Given the description of an element on the screen output the (x, y) to click on. 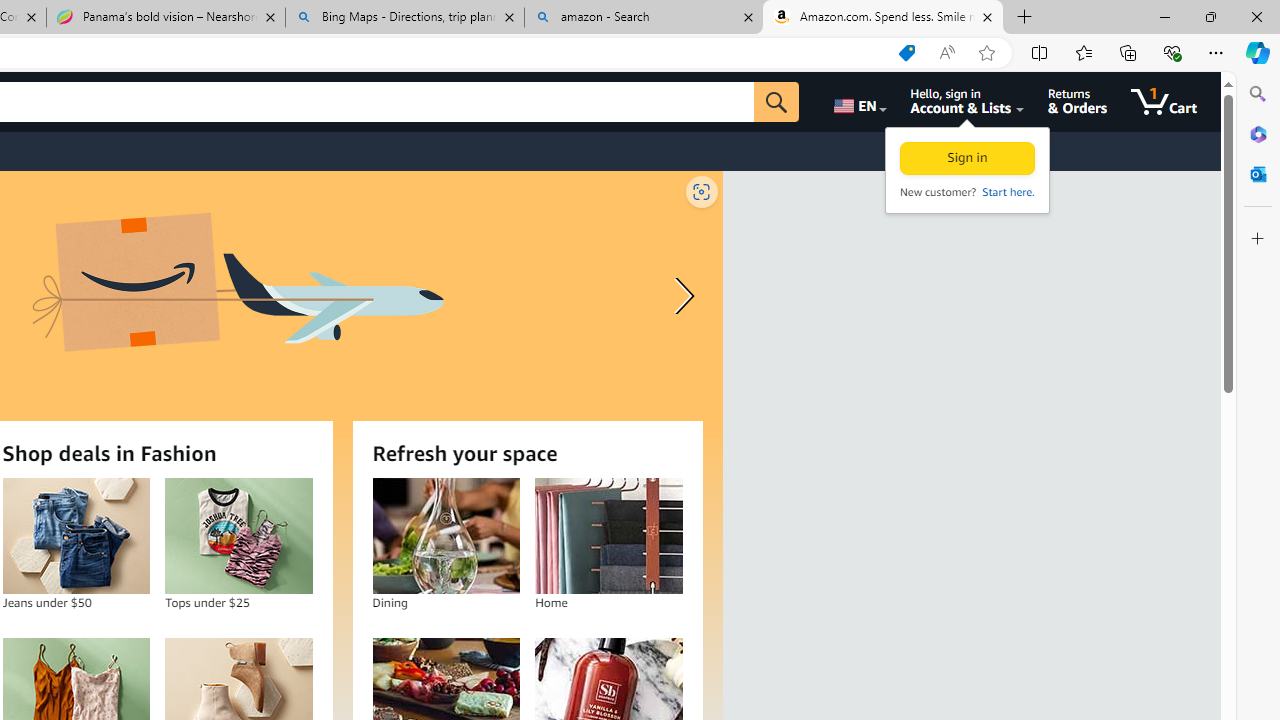
Tops under $25 (238, 536)
Dining (445, 536)
Jeans under $50 (75, 536)
